Given the description of an element on the screen output the (x, y) to click on. 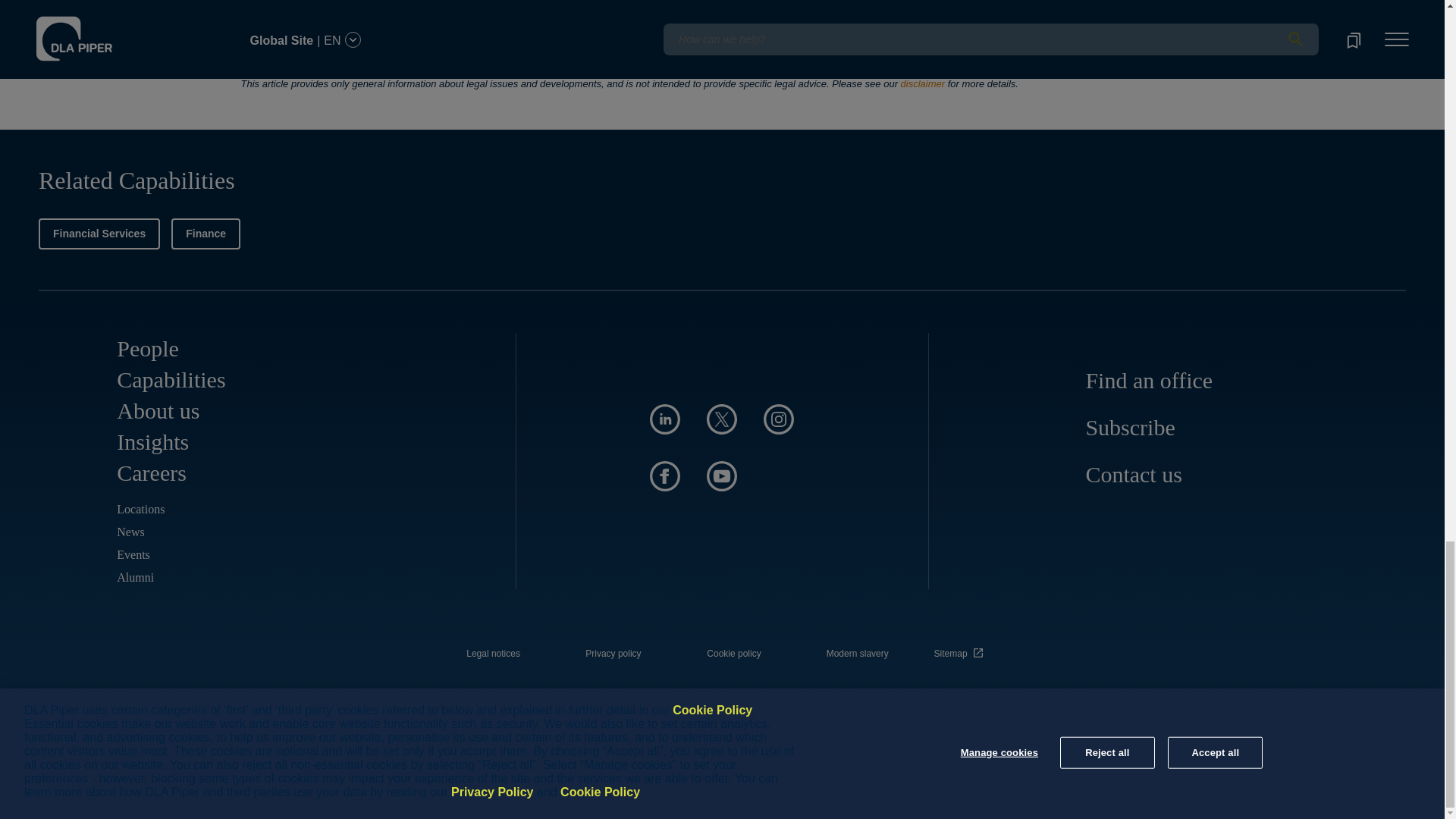
internal (493, 653)
internal (612, 653)
internal (734, 653)
internal (857, 653)
external (960, 649)
